Given the description of an element on the screen output the (x, y) to click on. 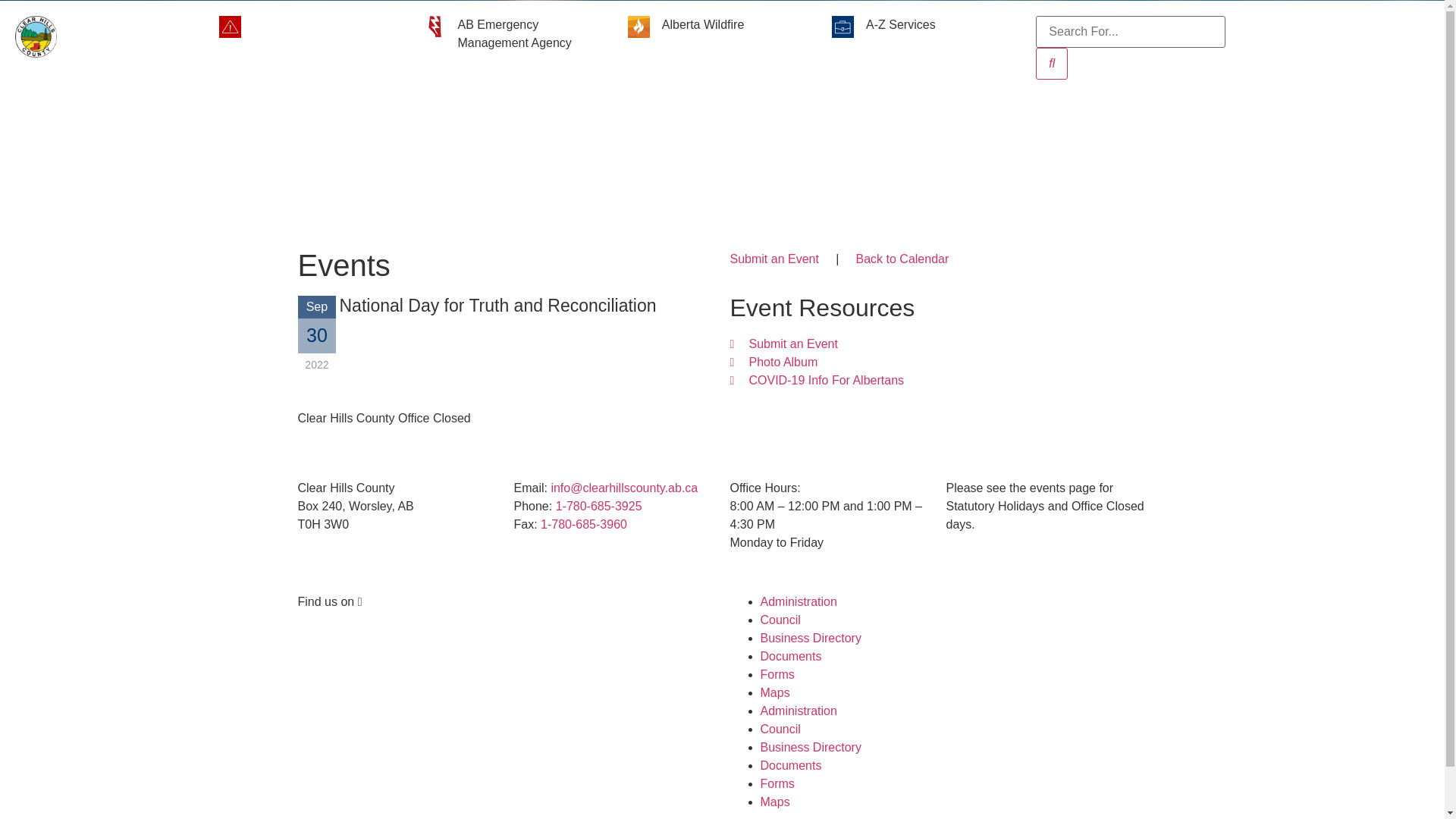
Administration Element type: text (797, 710)
Maps Element type: text (774, 692)
info@clearhillscounty.ab.ca Element type: text (623, 487)
CHC Wildfire Update Element type: text (309, 24)
Forms Element type: text (776, 674)
1-780-685-3960 Element type: text (583, 523)
Search Element type: hover (1051, 63)
Submit an Event Element type: text (773, 258)
COVID-19 Info For Albertans Element type: text (937, 380)
1-780-685-3925 Element type: text (598, 505)
COUNTY GOVERNMENT Element type: text (994, 112)
Administration Element type: text (797, 601)
Council Element type: text (779, 619)
Forms Element type: text (776, 783)
Search Element type: hover (1129, 31)
Maps Element type: text (774, 801)
LIVING HERE Element type: text (418, 112)
Business Directory Element type: text (809, 637)
Documents Element type: text (790, 655)
Business Directory Element type: text (809, 746)
Documents Element type: text (790, 765)
Back to Calendar Element type: text (902, 258)
BUSINESS & DEVELOPMENT Element type: text (781, 112)
Council Element type: text (779, 728)
Photo Album Element type: text (937, 362)
Submit an Event Element type: text (937, 344)
PLAY AND EXPLORE Element type: text (578, 112)
